Given the description of an element on the screen output the (x, y) to click on. 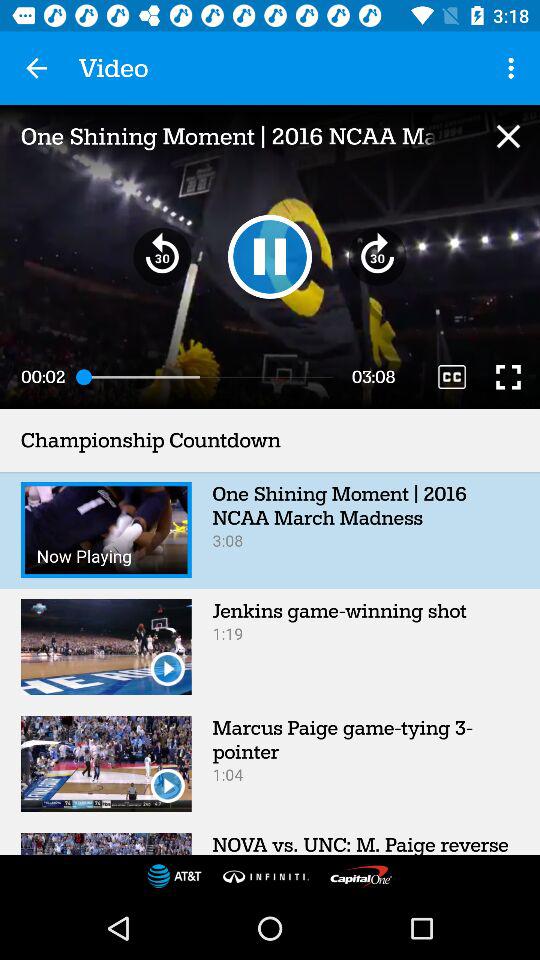
rewind video 30 seconds back (161, 256)
